Given the description of an element on the screen output the (x, y) to click on. 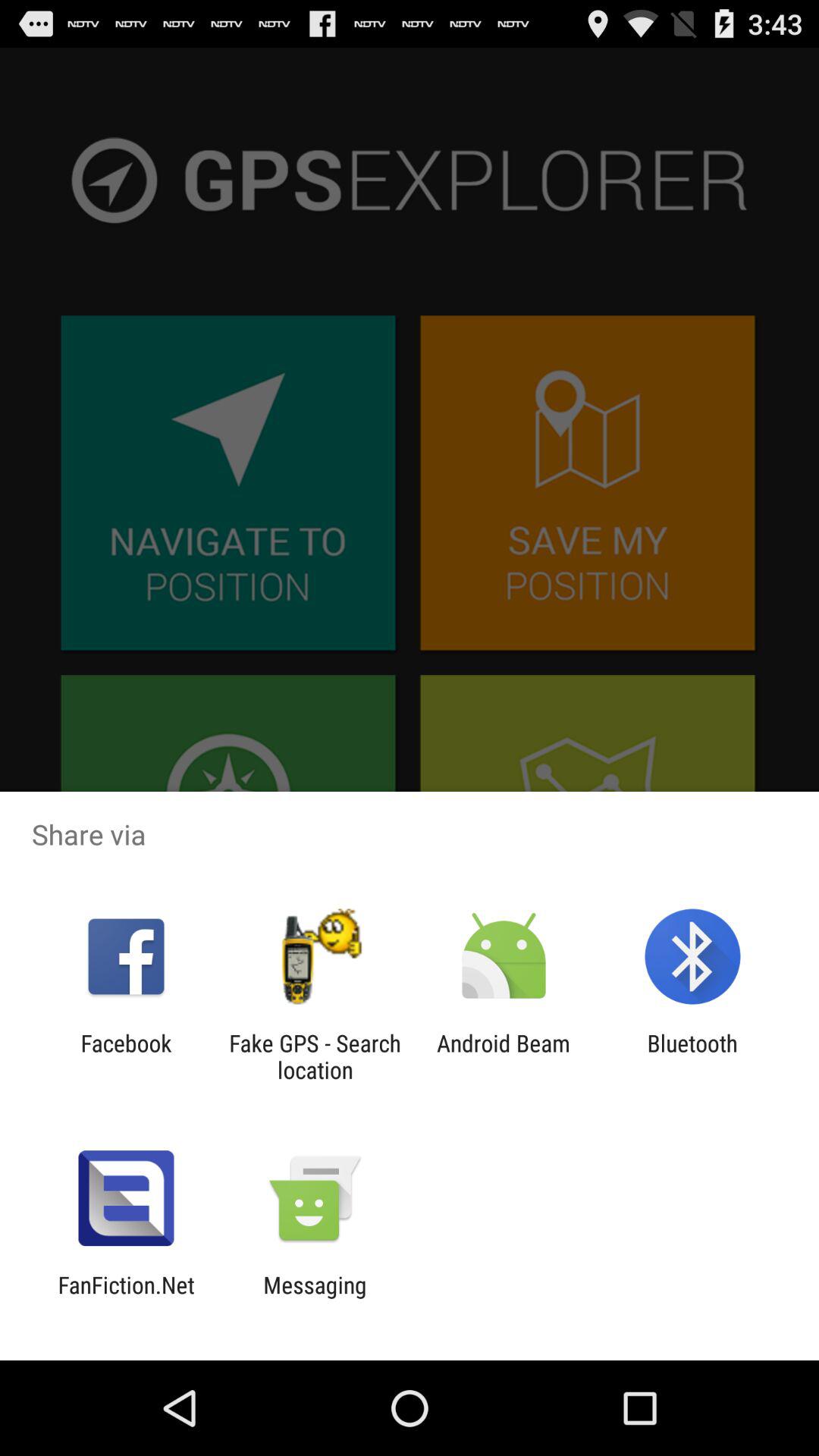
launch the fanfiction.net app (126, 1298)
